Given the description of an element on the screen output the (x, y) to click on. 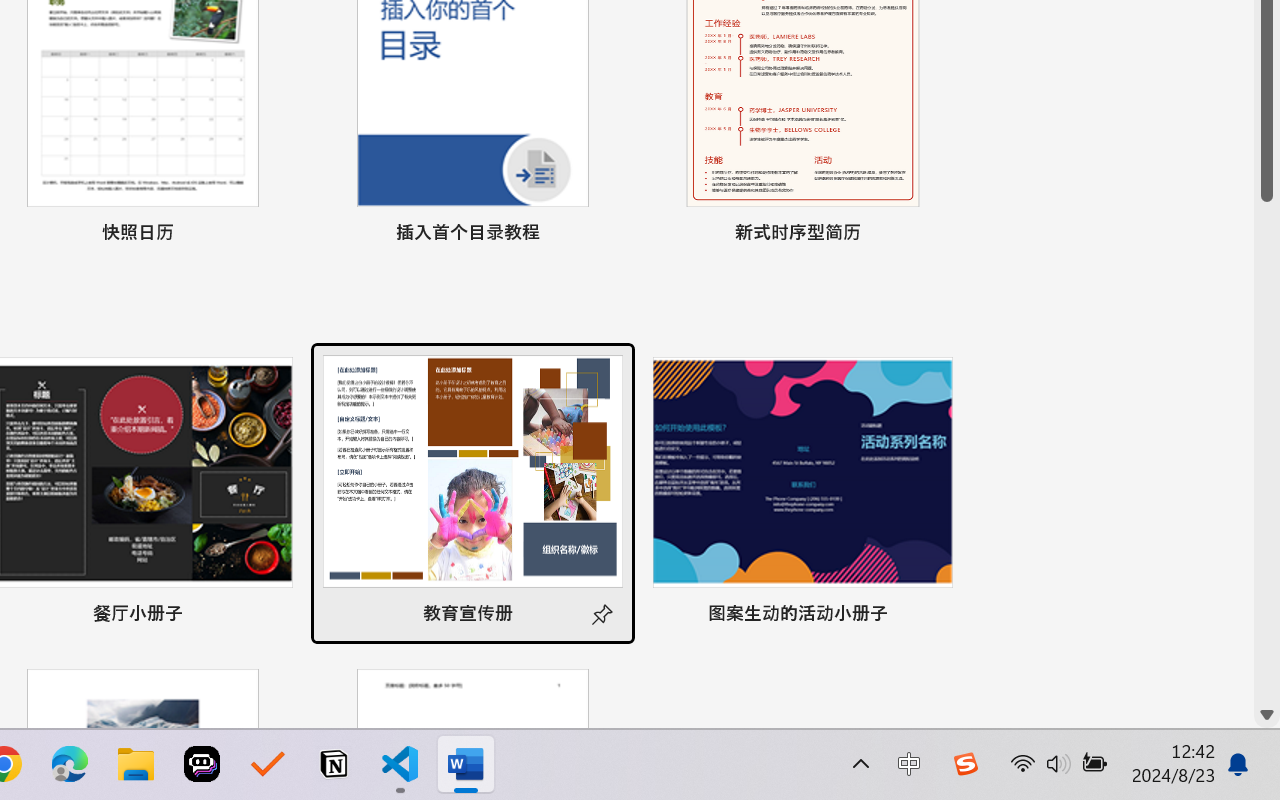
Pin to list (934, 616)
Line down (1267, 715)
Page down (1267, 451)
